Given the description of an element on the screen output the (x, y) to click on. 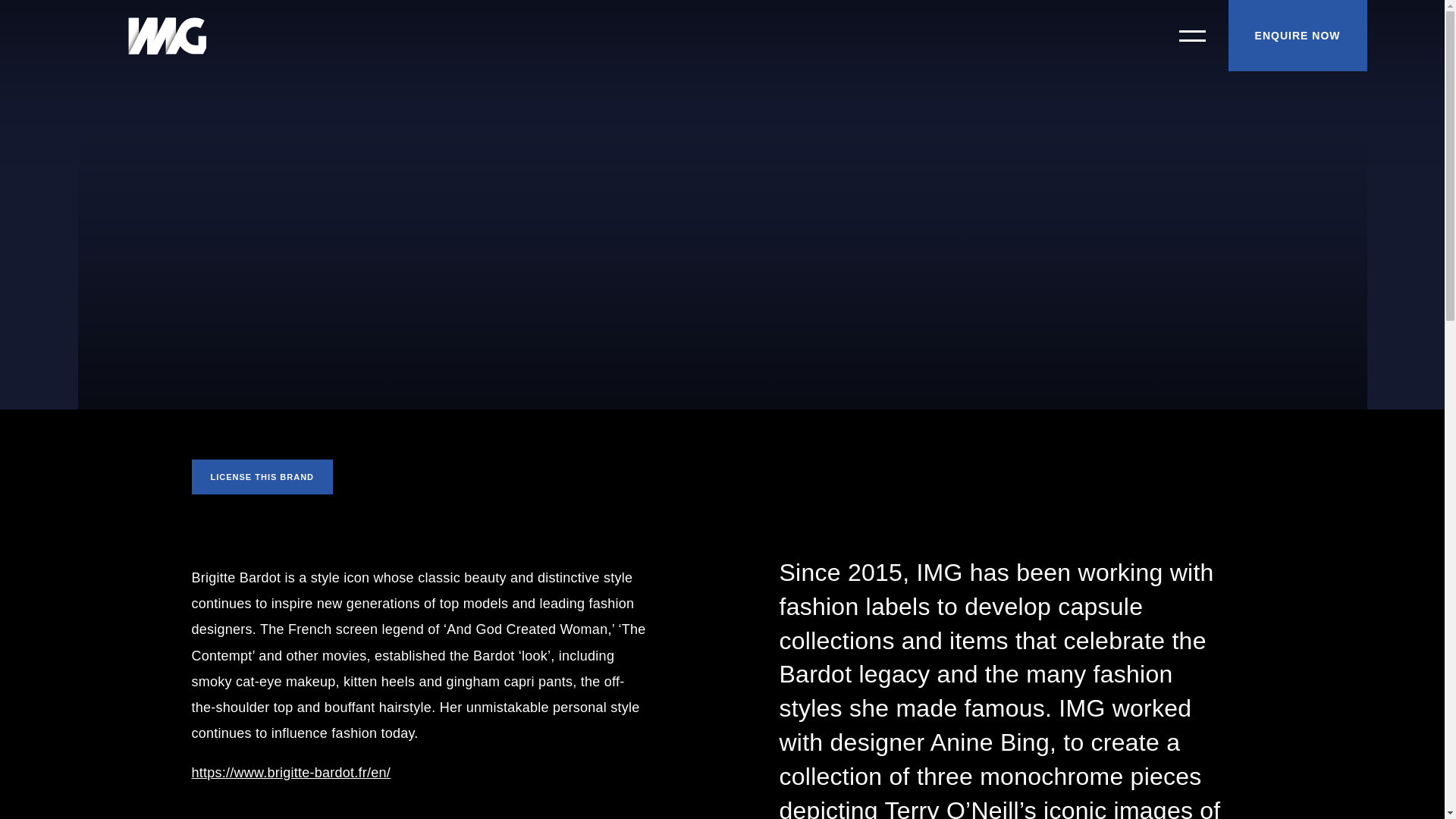
LICENSE THIS BRAND (261, 476)
ENQUIRE NOW (1297, 35)
